Given the description of an element on the screen output the (x, y) to click on. 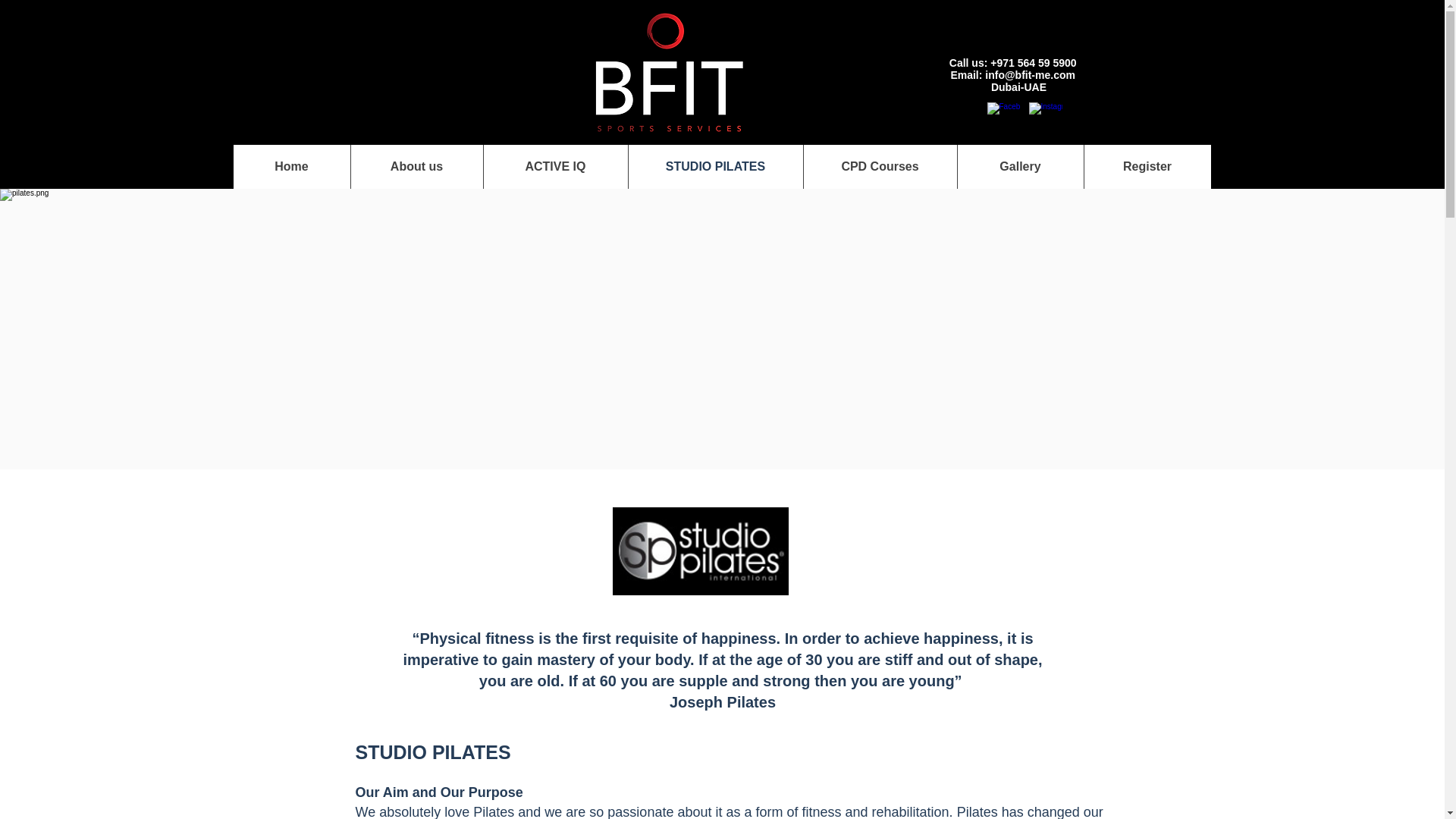
Home (291, 166)
Register (1146, 166)
Gallery (1019, 166)
STUDIO PILATES (715, 166)
CPD Courses (879, 166)
About us (416, 166)
ACTIVE IQ (554, 166)
